Given the description of an element on the screen output the (x, y) to click on. 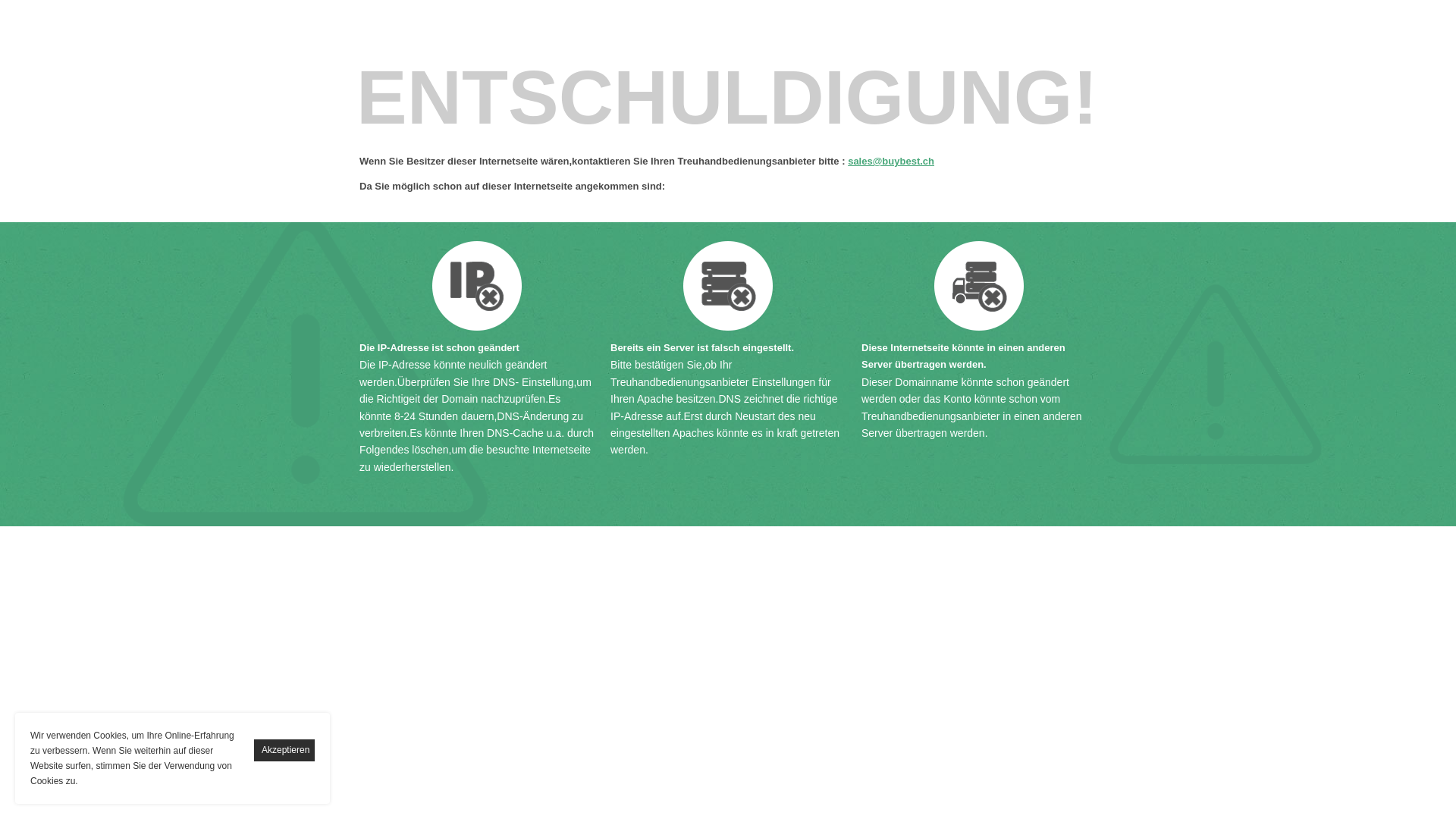
sales@buybest.ch Element type: text (890, 160)
